Given the description of an element on the screen output the (x, y) to click on. 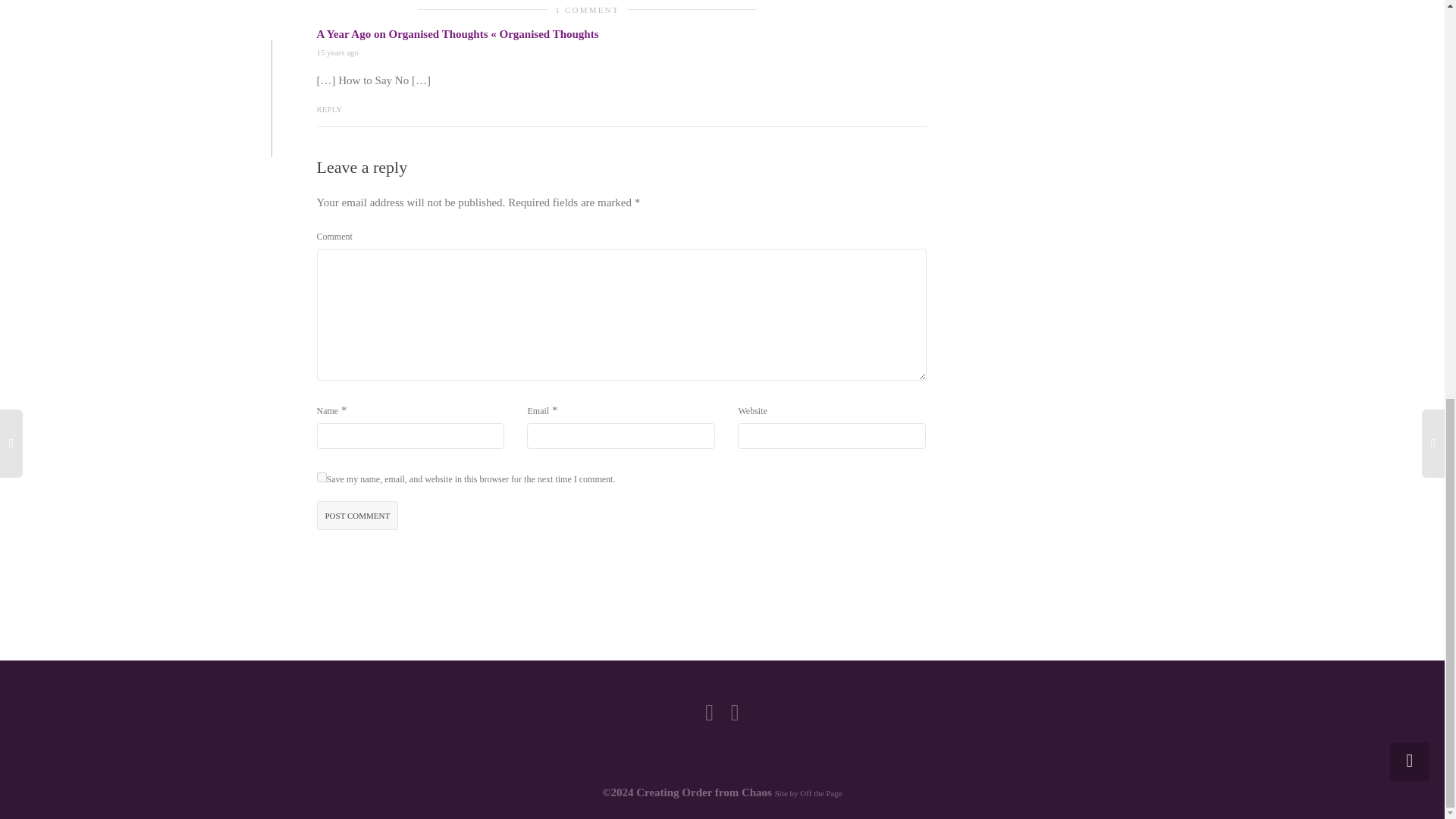
REPLY (329, 108)
Post comment (357, 515)
Off the Page (820, 792)
yes (321, 477)
Post comment (357, 515)
